Given the description of an element on the screen output the (x, y) to click on. 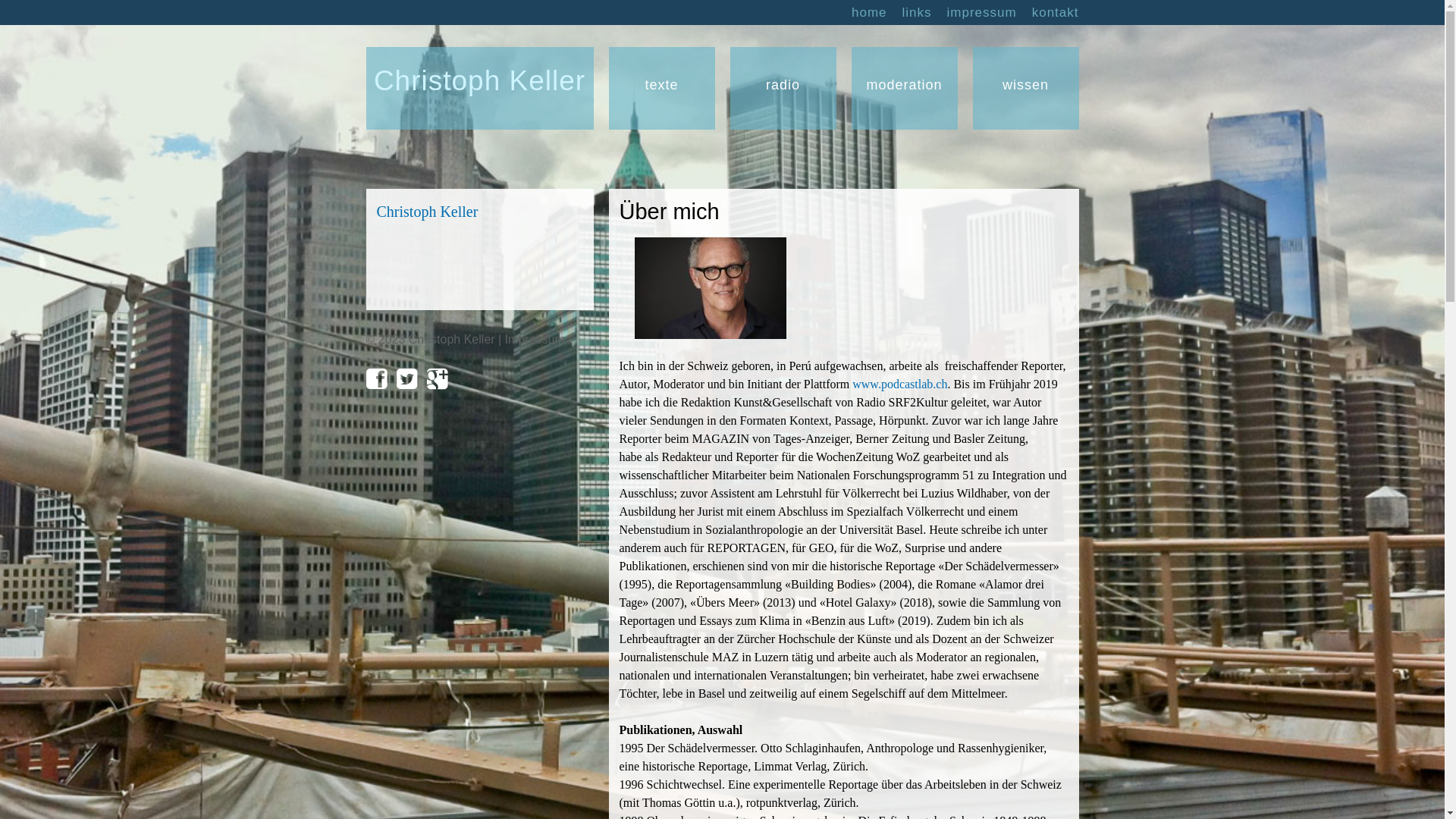
kontakt Element type: text (1055, 12)
radio Element type: text (782, 81)
wissen Element type: text (1025, 81)
impressum Element type: text (981, 12)
Facebook Element type: hover (380, 378)
Christoph Keller Element type: text (426, 211)
GooglePlus Element type: hover (441, 378)
texte Element type: text (661, 81)
moderation Element type: text (903, 81)
Christoph Keller Element type: text (479, 83)
Twitter Element type: hover (410, 378)
home Element type: text (869, 12)
links Element type: text (916, 12)
www.podcastlab.ch Element type: text (899, 383)
